Given the description of an element on the screen output the (x, y) to click on. 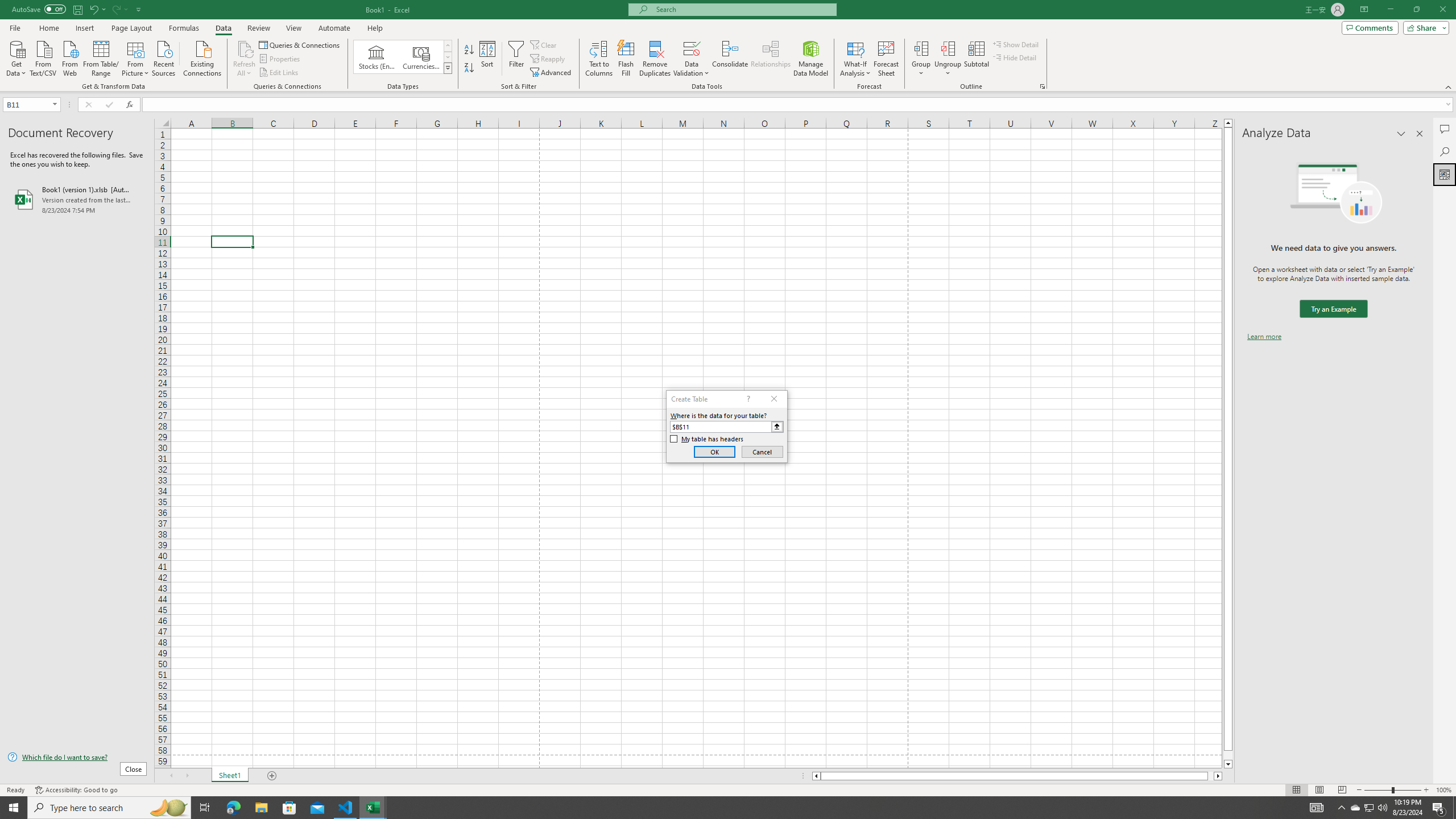
Filter (515, 58)
Review (258, 28)
Zoom (1392, 790)
Scroll Left (171, 775)
Flash Fill (625, 58)
Forecast Sheet (885, 58)
Help (374, 28)
Task Pane Options (1400, 133)
Data Validation... (691, 58)
Hide Detail (1014, 56)
Class: NetUIScrollBar (1016, 775)
Save (77, 9)
Microsoft search (742, 9)
